Given the description of an element on the screen output the (x, y) to click on. 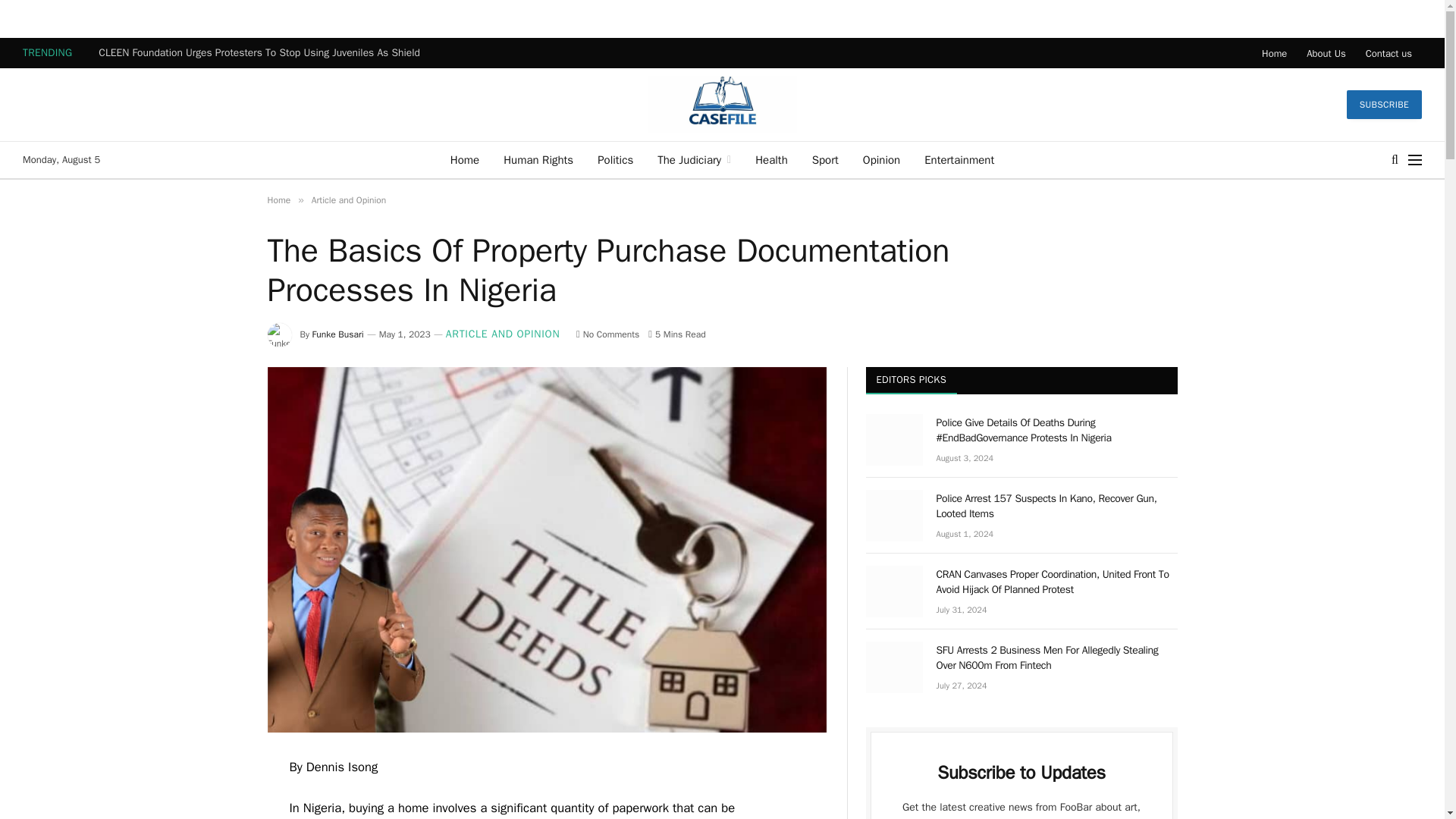
Health (770, 159)
Home (465, 159)
Entertainment (959, 159)
Posts by Funke Busari (338, 334)
Casefile Nigeria (721, 103)
Sport (824, 159)
Home (1274, 52)
Home (277, 200)
SUBSCRIBE (1384, 104)
About Us (1326, 52)
ARTICLE AND OPINION (502, 334)
Politics (615, 159)
Contact us (1388, 52)
